Given the description of an element on the screen output the (x, y) to click on. 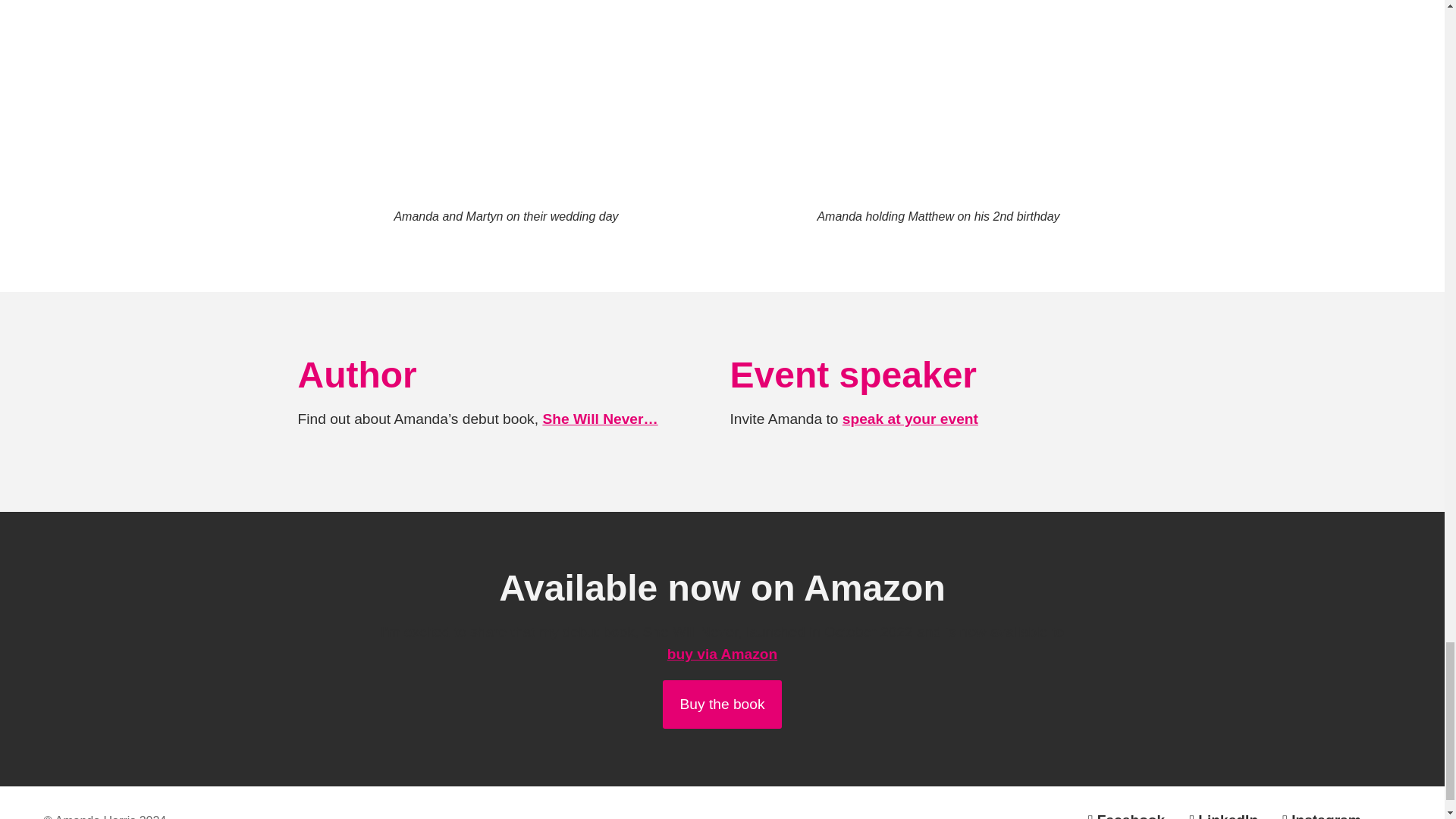
Follow Amanda on LinkedIn (1215, 814)
Follow Amanda on Facebook (1120, 814)
Read about my debut book (599, 418)
Facebook (1120, 814)
Follow Amanda on LinkedIn (1314, 814)
Buy now via Amazon (721, 653)
speak at your event (910, 418)
Buy the book (721, 704)
buy via Amazon (721, 653)
Purchase via Amazon (721, 704)
